Given the description of an element on the screen output the (x, y) to click on. 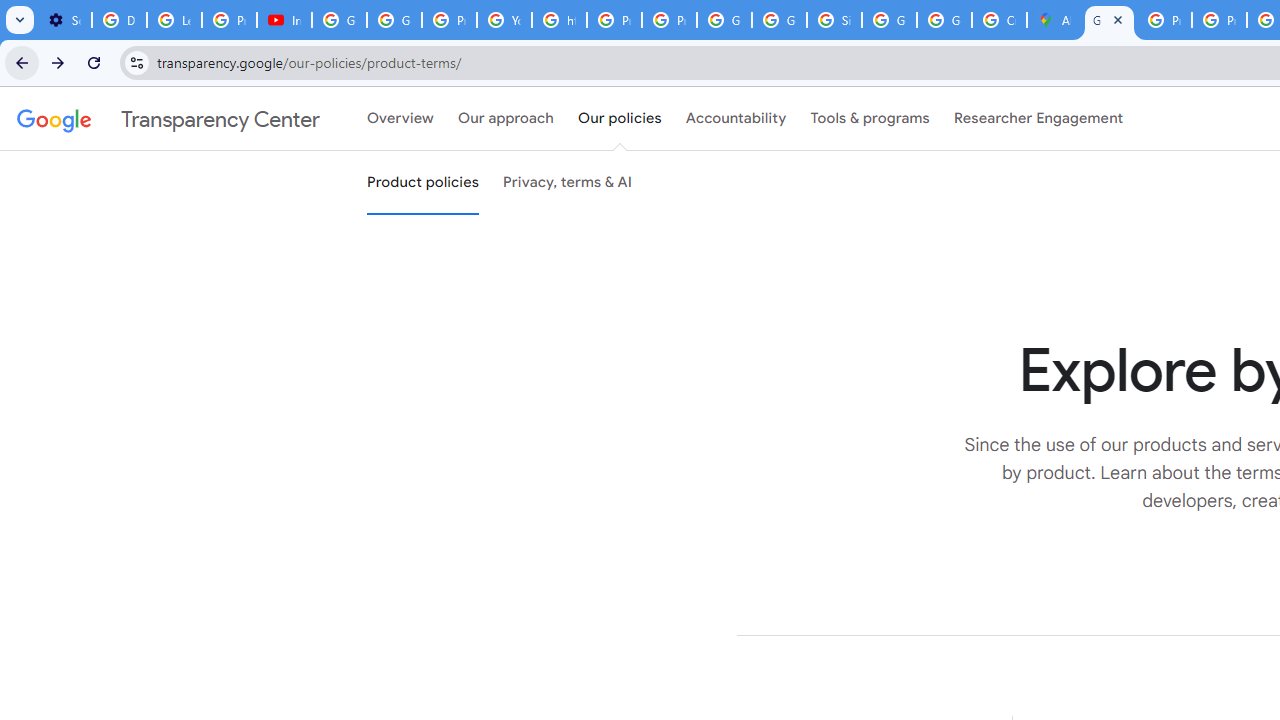
Privacy, terms & AI (568, 183)
YouTube (504, 20)
Introduction | Google Privacy Policy - YouTube (284, 20)
Google Account Help (339, 20)
Delete photos & videos - Computer - Google Photos Help (119, 20)
Sign in - Google Accounts (833, 20)
Accountability (735, 119)
Create your Google Account (998, 20)
Privacy Help Center - Policies Help (614, 20)
